Given the description of an element on the screen output the (x, y) to click on. 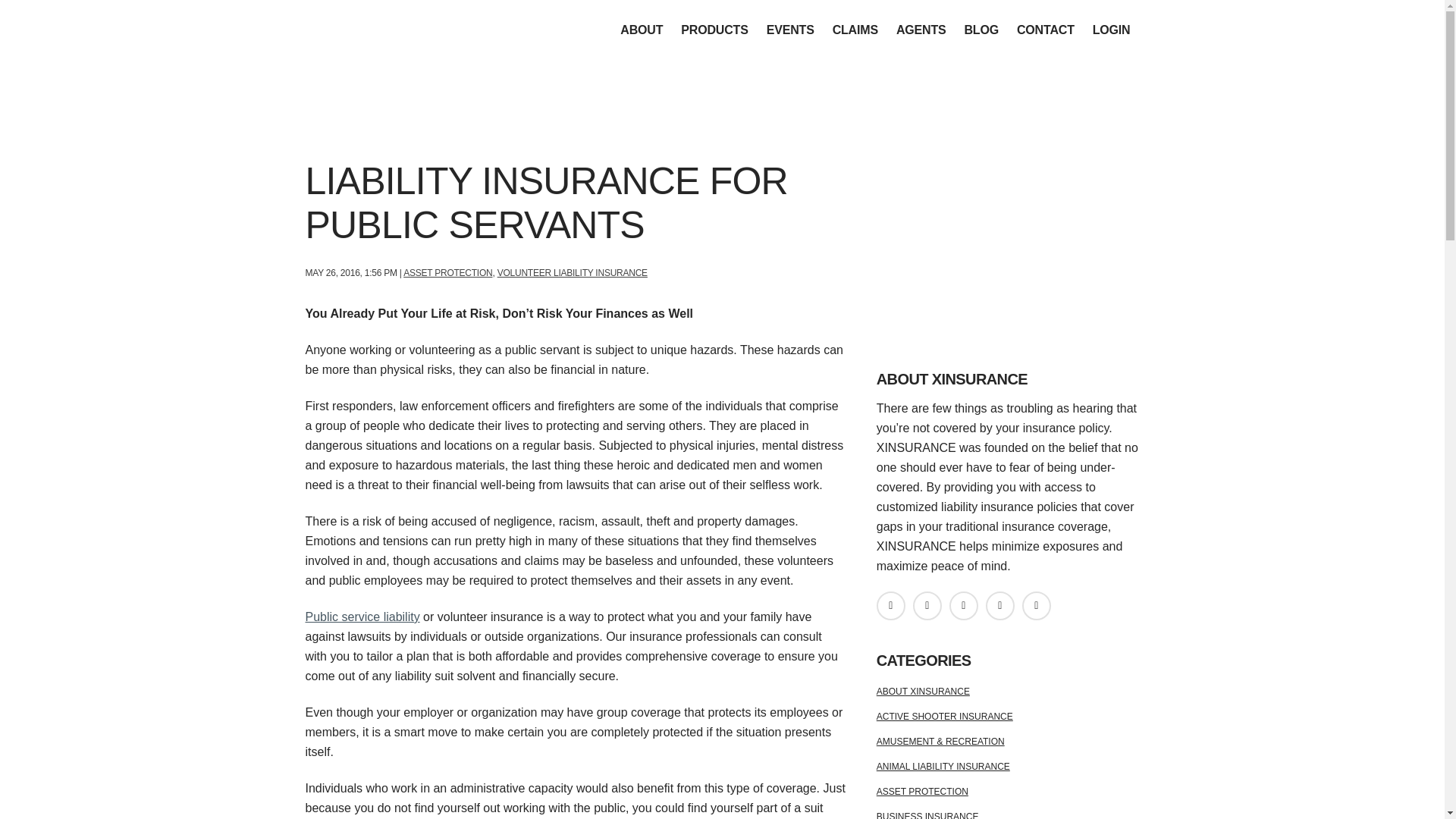
EVENTS (790, 30)
AGENTS (920, 30)
CLAIMS (855, 30)
ABOUT (641, 30)
PRODUCTS (714, 30)
Event Calendar (790, 30)
